Given the description of an element on the screen output the (x, y) to click on. 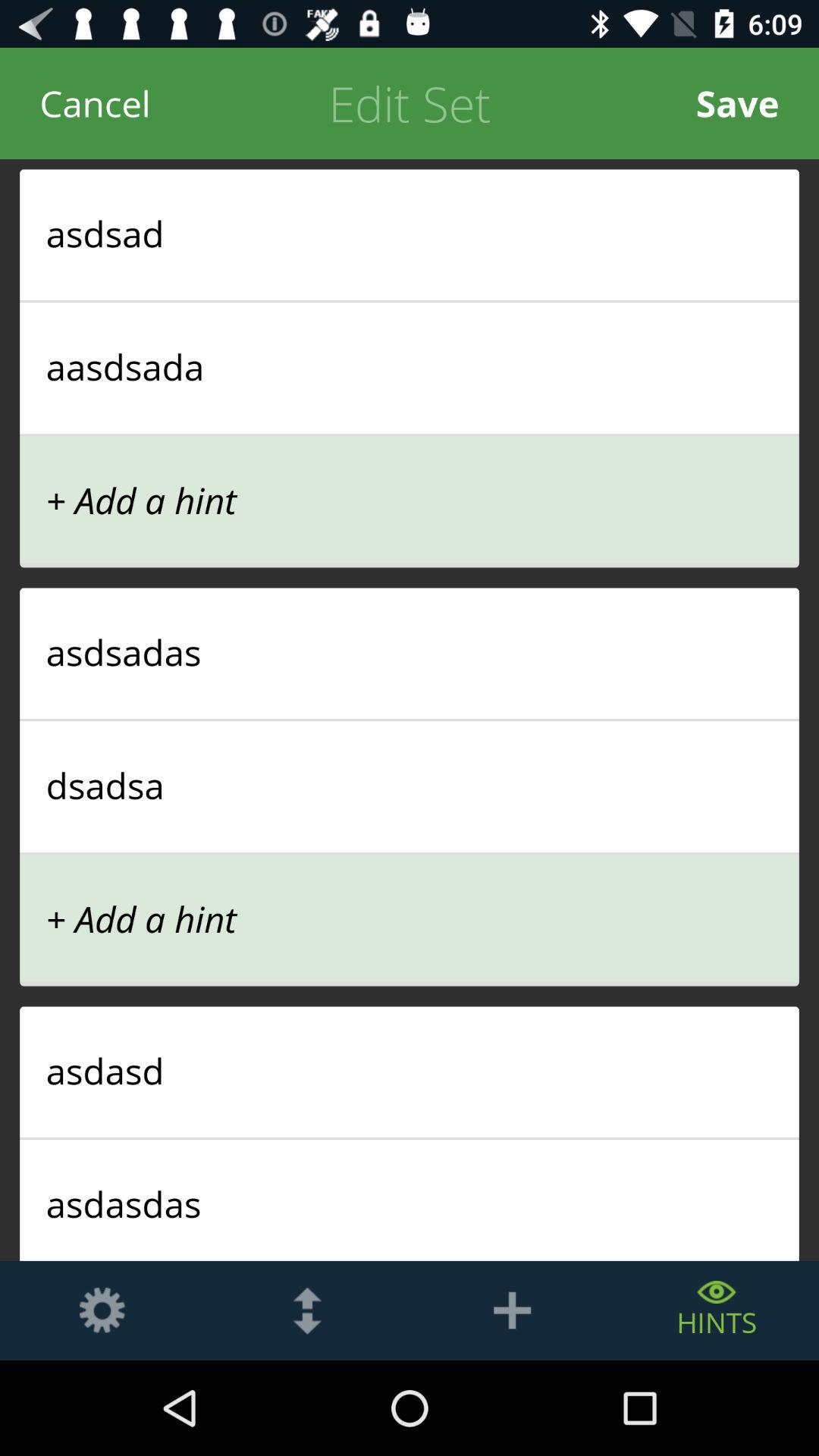
add a set (511, 1310)
